Given the description of an element on the screen output the (x, y) to click on. 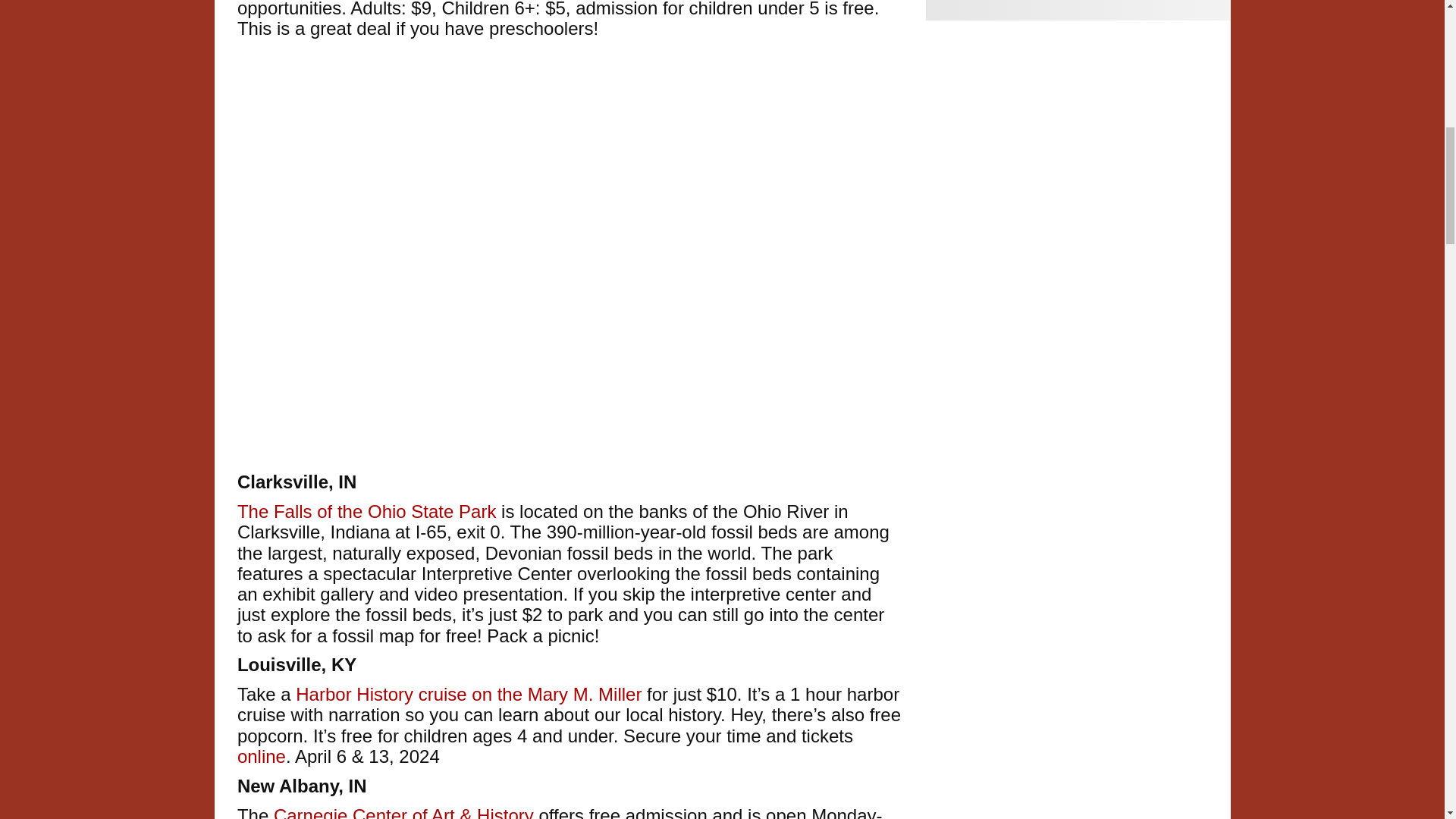
Harbor History cruise on the Mary M. Miller (468, 693)
The Falls of the Ohio State Park (366, 511)
online (261, 756)
